Given the description of an element on the screen output the (x, y) to click on. 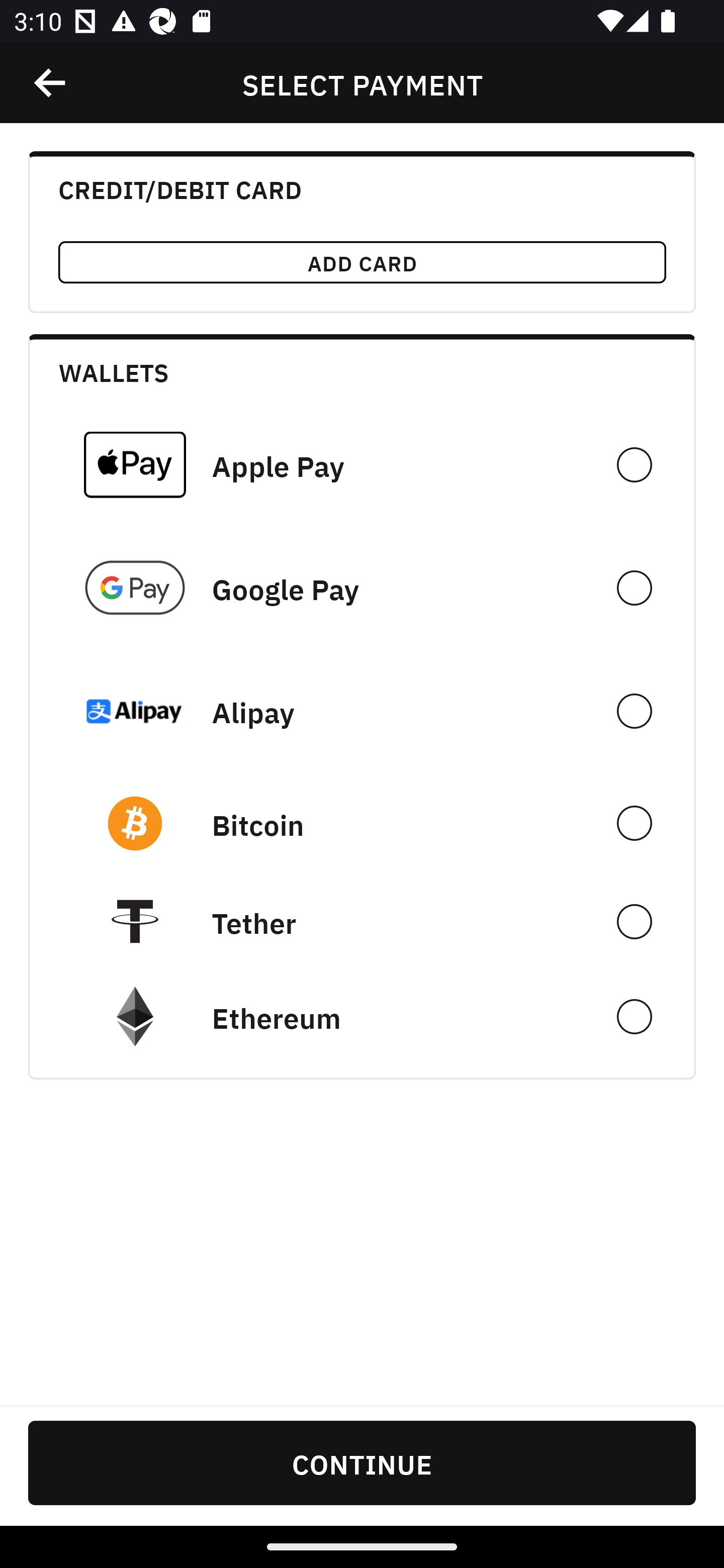
 (50, 83)
ADD CARD (362, 262)
Apple Pay (362, 464)
Google Pay (362, 587)
Alipay (362, 711)
󰠓 Bitcoin (362, 823)
Tether (362, 921)
Ethereum (362, 1016)
CONTINUE (361, 1462)
